Given the description of an element on the screen output the (x, y) to click on. 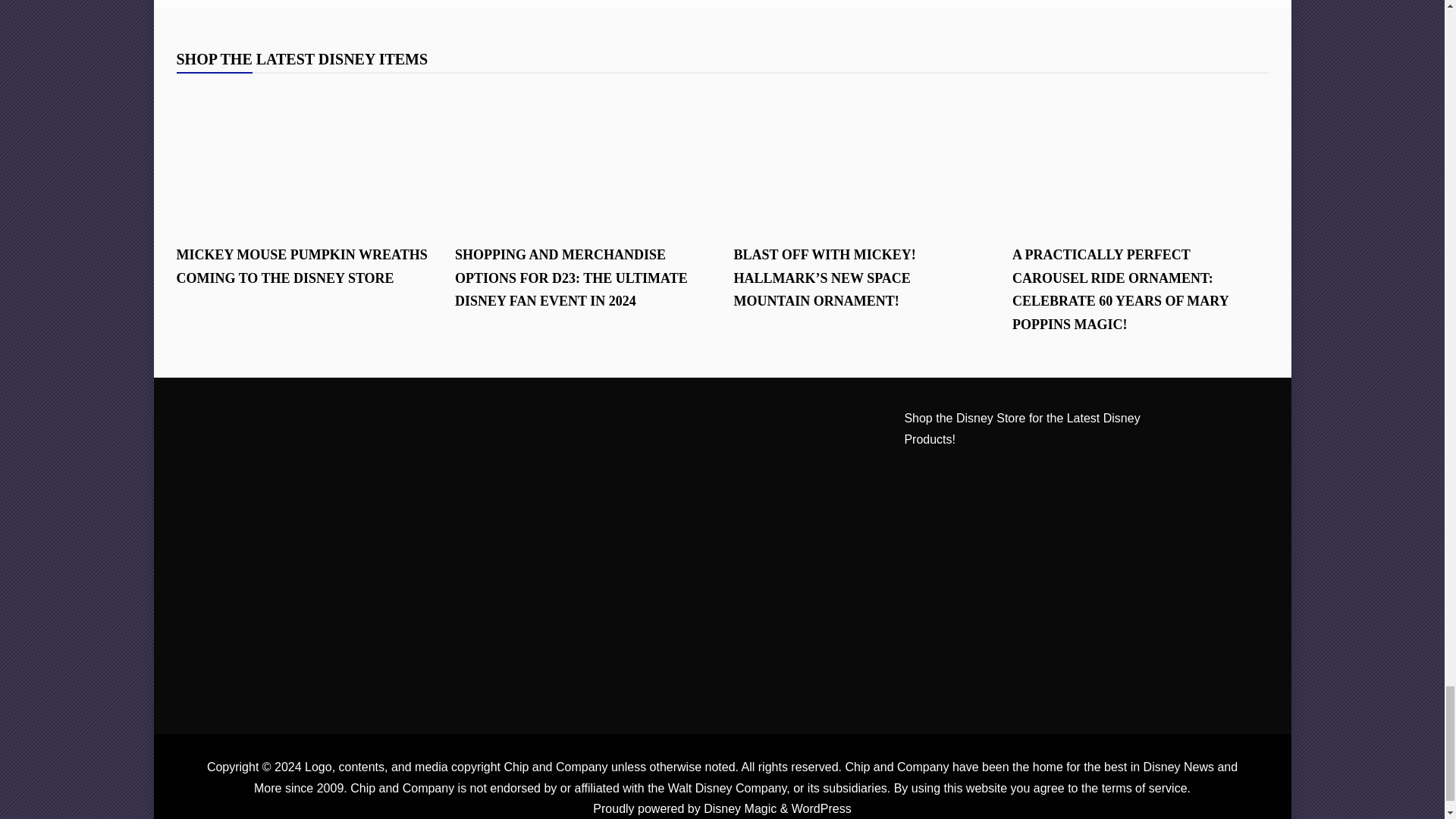
Mickey Mouse Pumpkin Wreaths Coming to the Disney Store (304, 158)
